Given the description of an element on the screen output the (x, y) to click on. 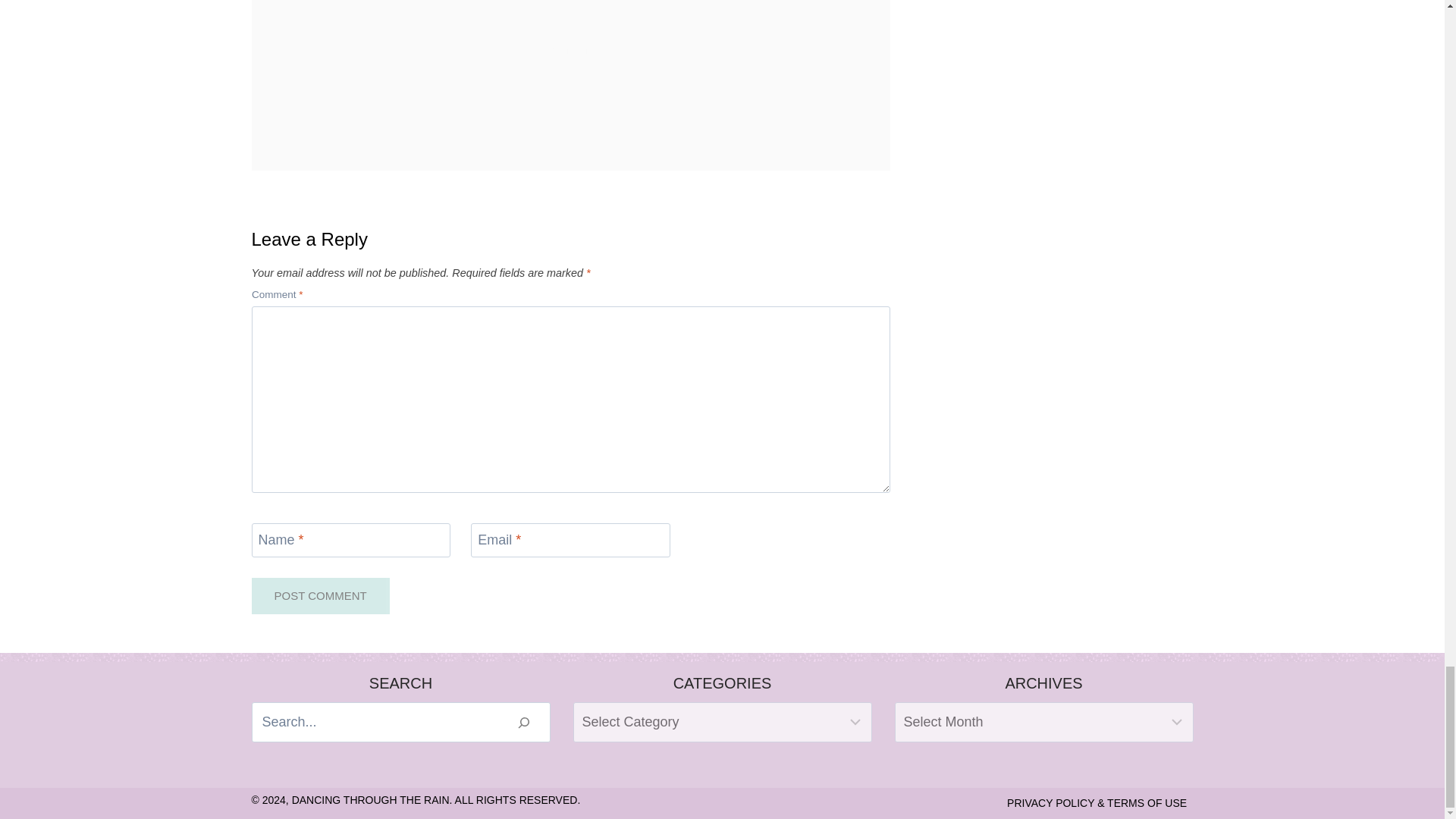
Post Comment (320, 596)
